Given the description of an element on the screen output the (x, y) to click on. 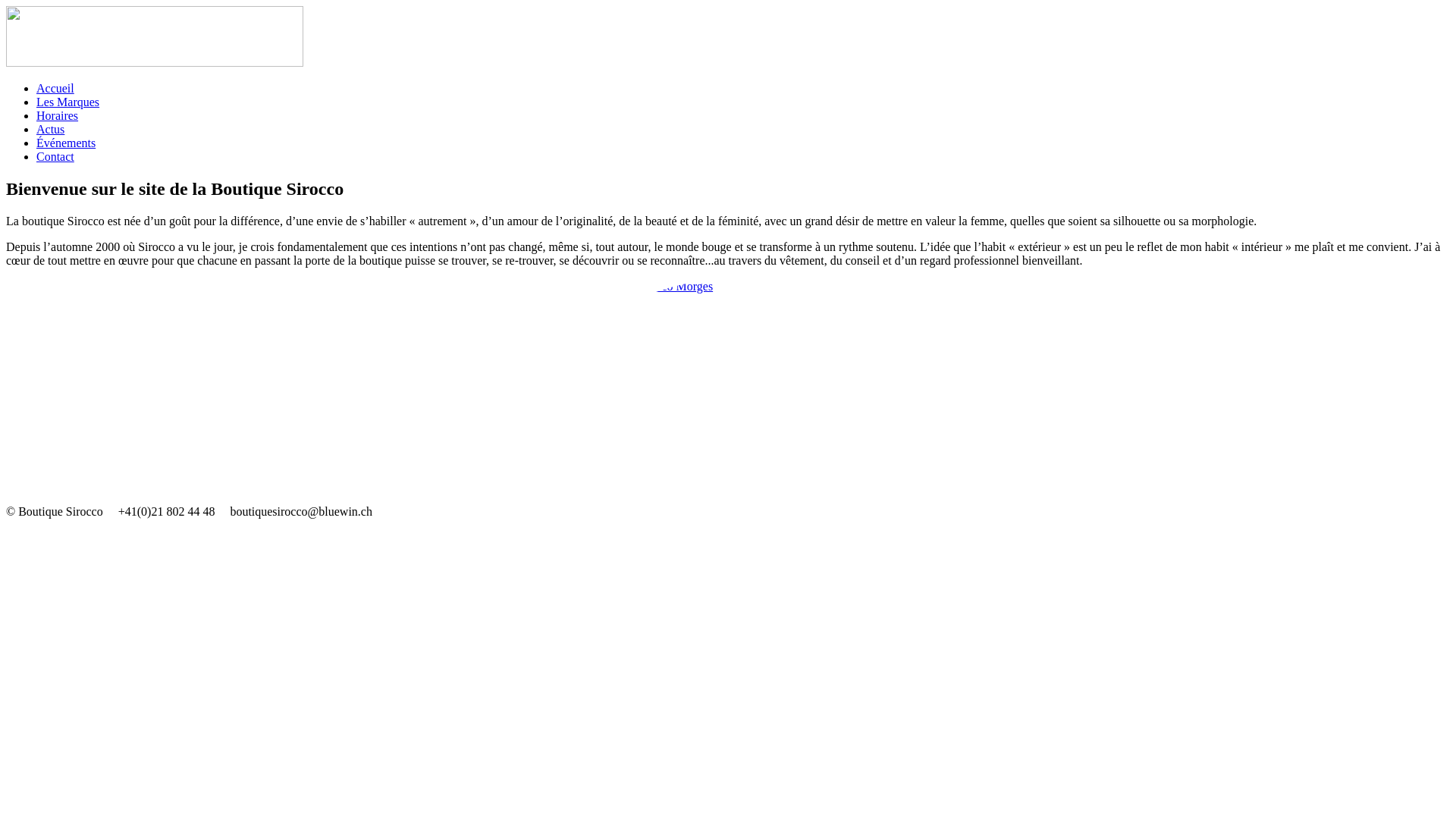
Horaires Element type: text (57, 115)
Les Marques Element type: text (67, 101)
Accueil Element type: text (55, 87)
Actus Element type: text (50, 128)
Contact Element type: text (55, 156)
